Given the description of an element on the screen output the (x, y) to click on. 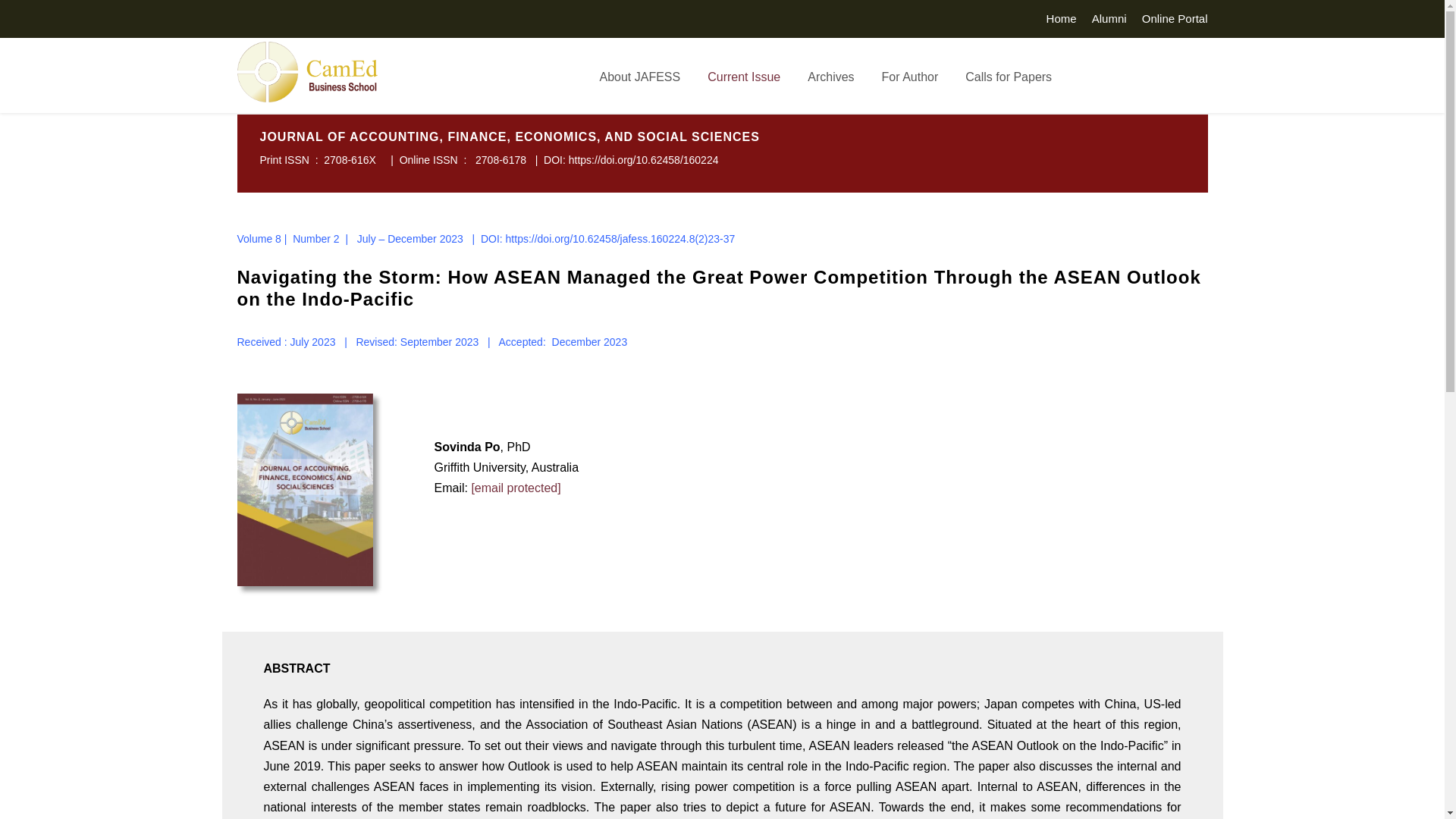
Alumni (1109, 23)
Home (1061, 23)
